Given the description of an element on the screen output the (x, y) to click on. 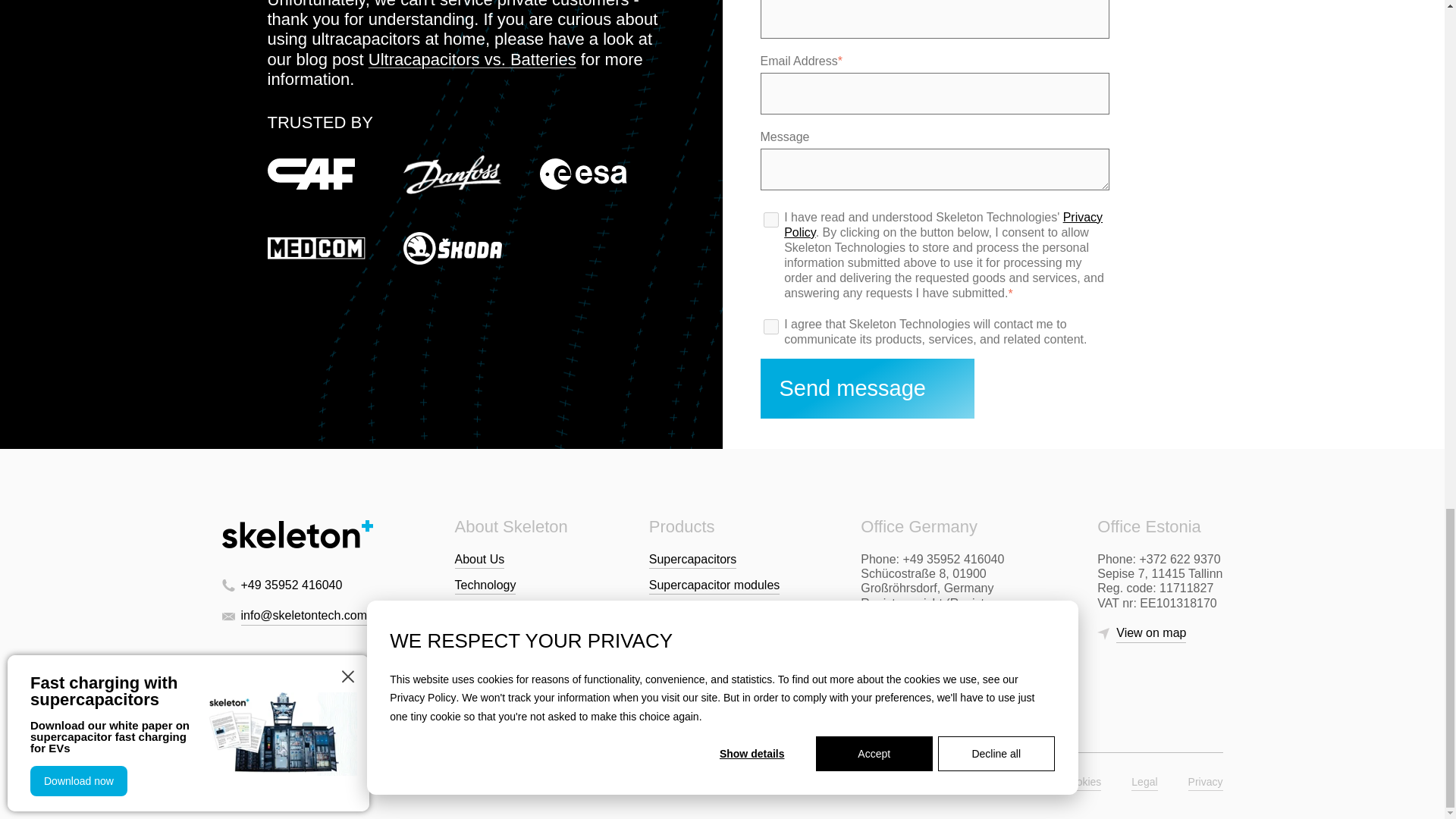
true (769, 219)
Send message (867, 388)
true (769, 326)
